Given the description of an element on the screen output the (x, y) to click on. 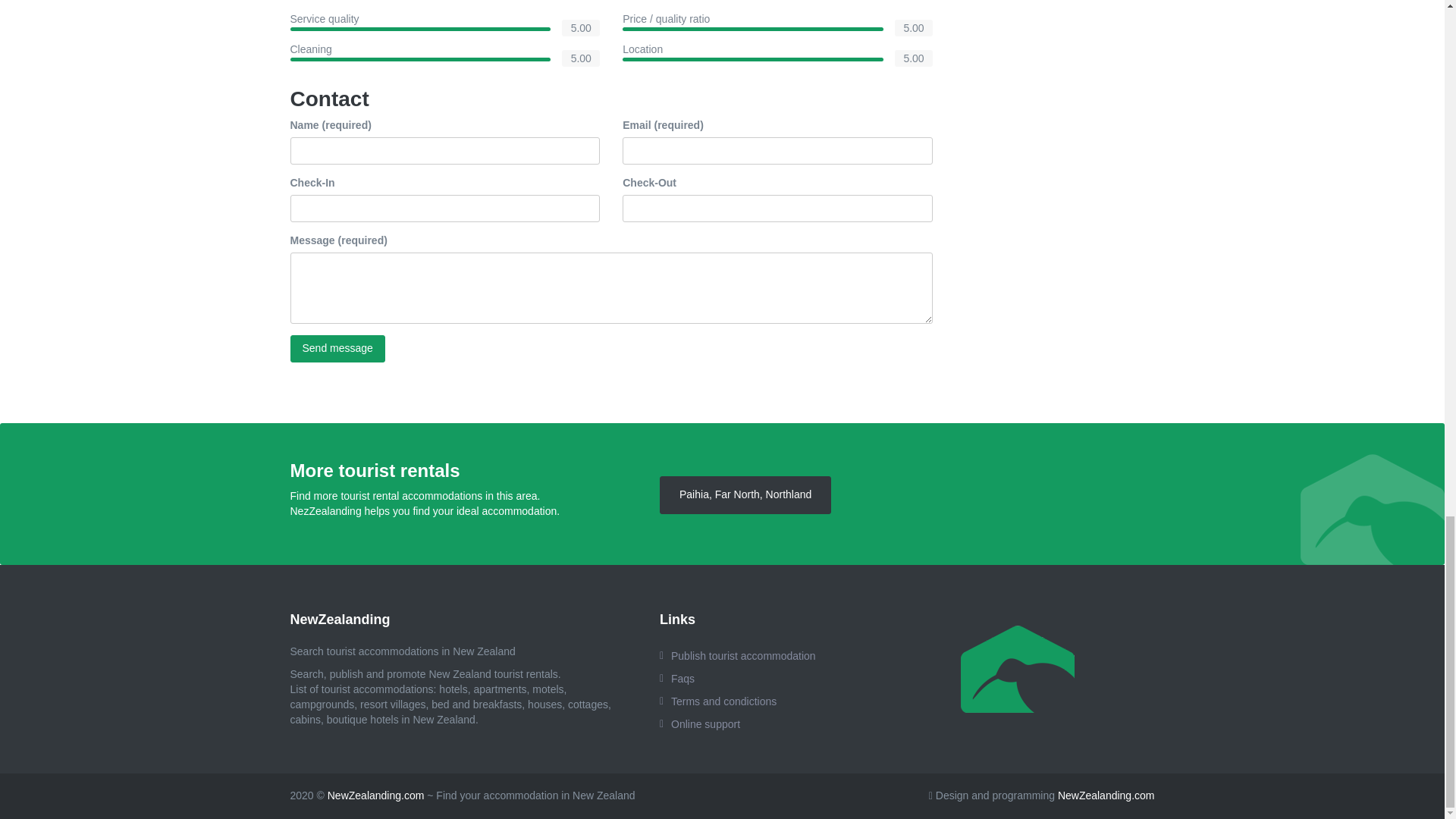
Paihia, Far North, Northland (745, 494)
Terms and condictions (759, 701)
Send message (336, 348)
Online support (759, 723)
Publish tourist accommodation (759, 655)
Faqs (759, 678)
NewZealanding.com (1106, 795)
NewZealanding.com (376, 795)
